Given the description of an element on the screen output the (x, y) to click on. 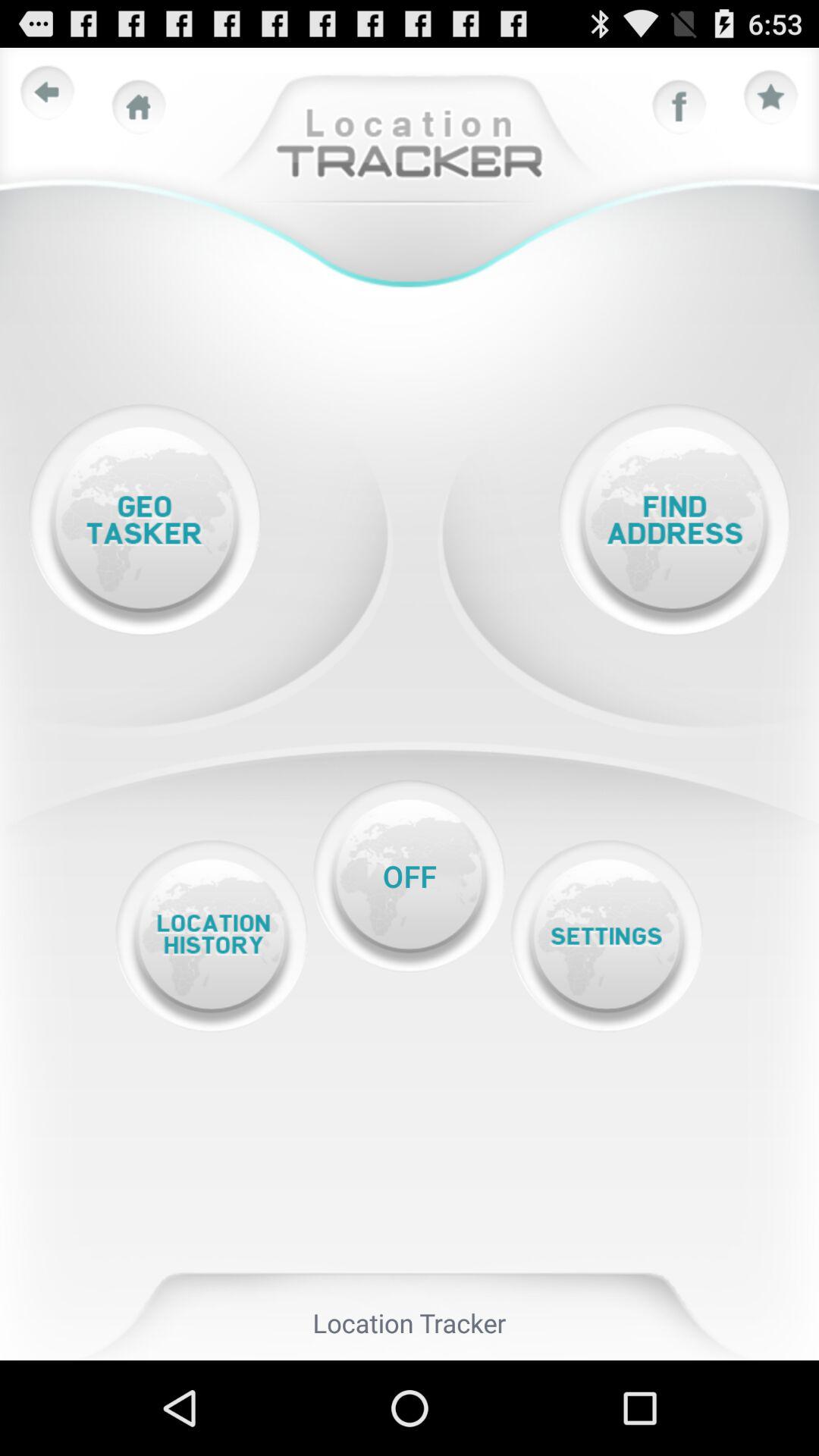
go to home menu (139, 107)
